Given the description of an element on the screen output the (x, y) to click on. 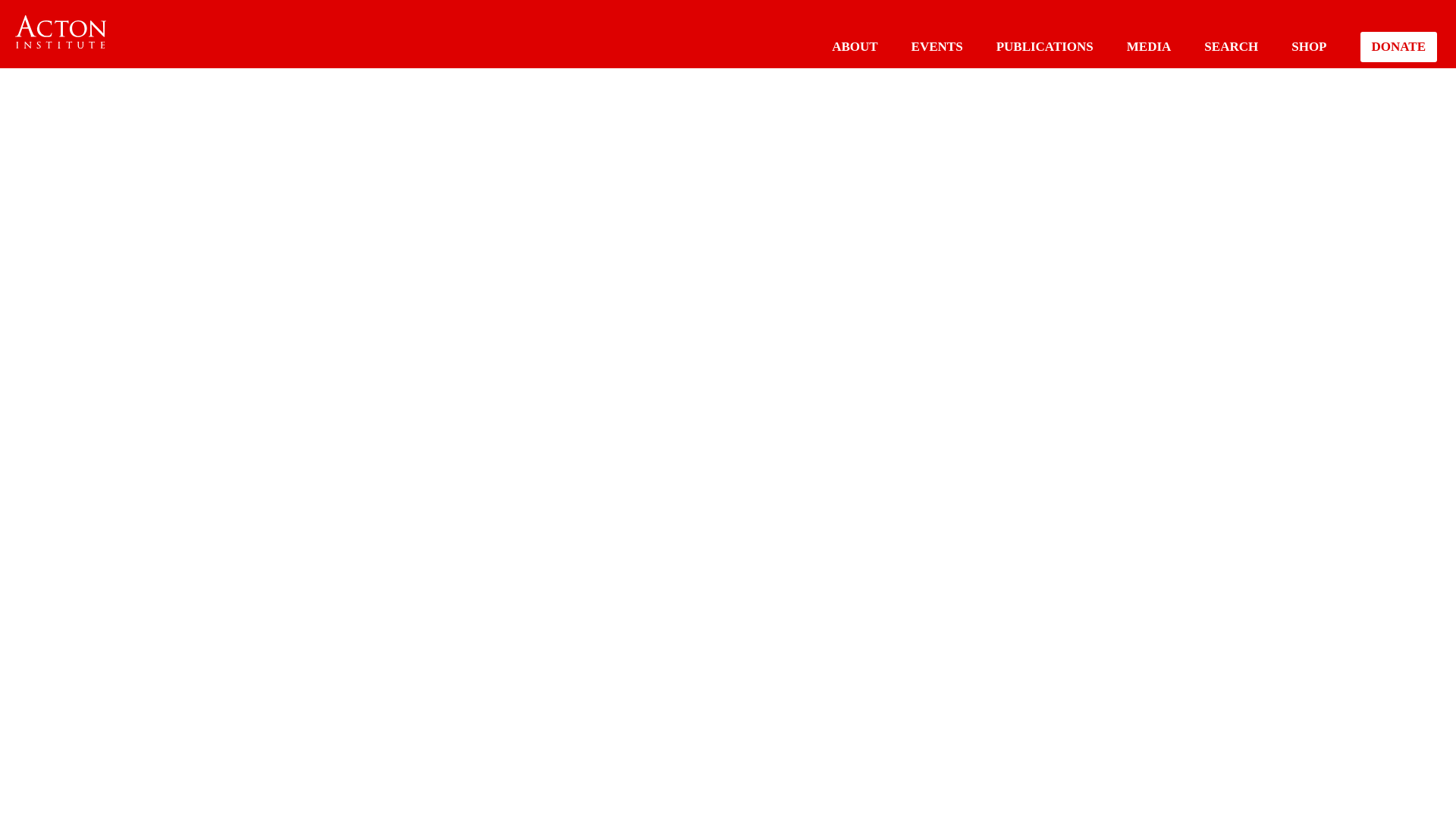
The Acton Institute (60, 31)
SHOP (1308, 46)
ABOUT (854, 46)
SEARCH (1230, 46)
MEDIA (1149, 46)
DONATE (1398, 46)
EVENTS (936, 46)
PUBLICATIONS (1044, 46)
